Given the description of an element on the screen output the (x, y) to click on. 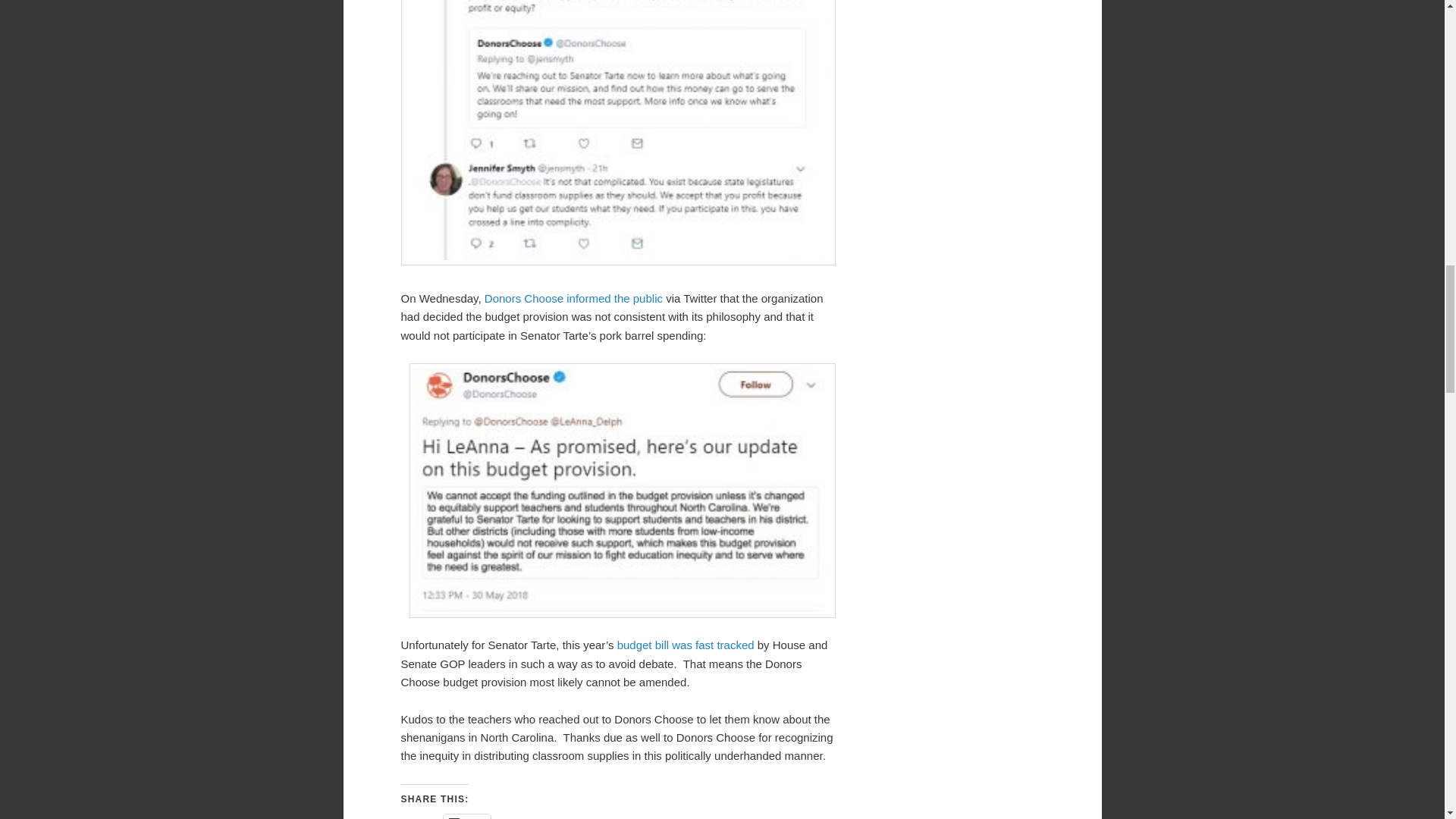
Email (467, 816)
Tweet (421, 816)
Click to email a link to a friend (467, 816)
budget bill was fast tracked (685, 644)
Donors Choose informed the public (573, 297)
